Given the description of an element on the screen output the (x, y) to click on. 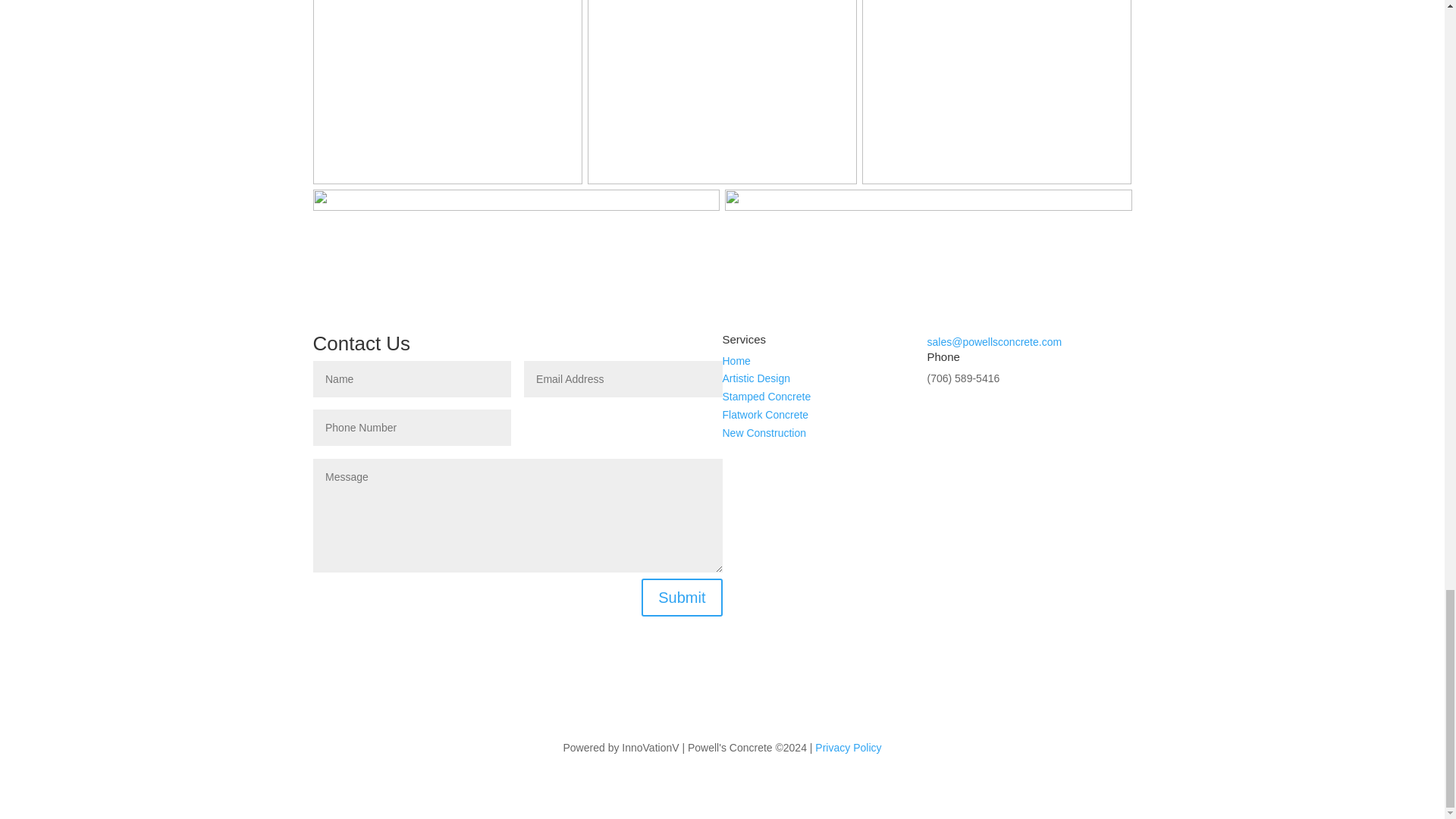
Flatwork Concrete (765, 414)
Artistic Design (755, 378)
Privacy Policy (847, 747)
Home (735, 360)
New Construction (764, 432)
Submit (682, 597)
Stamped Concrete (766, 396)
